Given the description of an element on the screen output the (x, y) to click on. 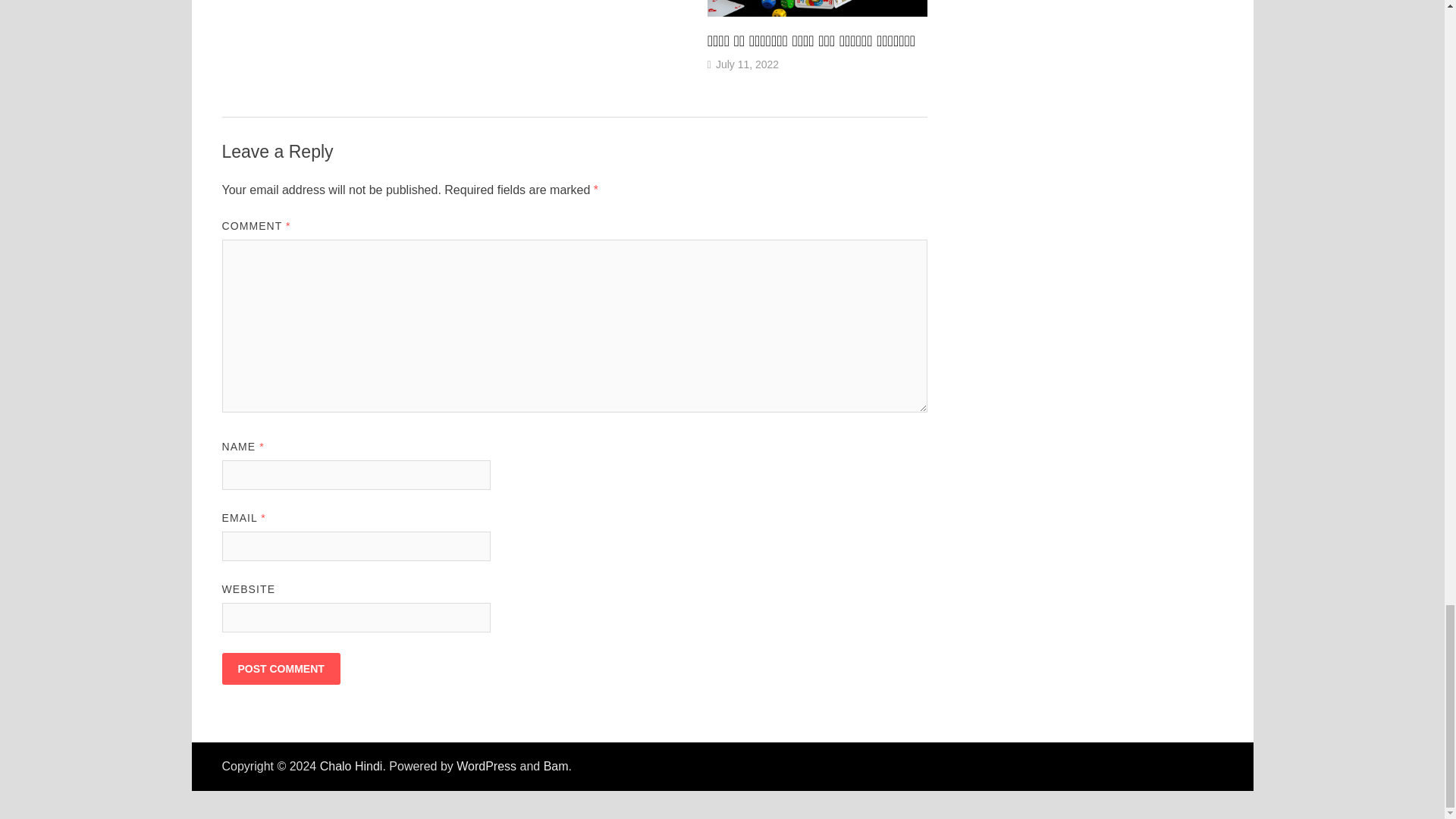
Post Comment (280, 668)
Chalo Hindi (351, 766)
